Given the description of an element on the screen output the (x, y) to click on. 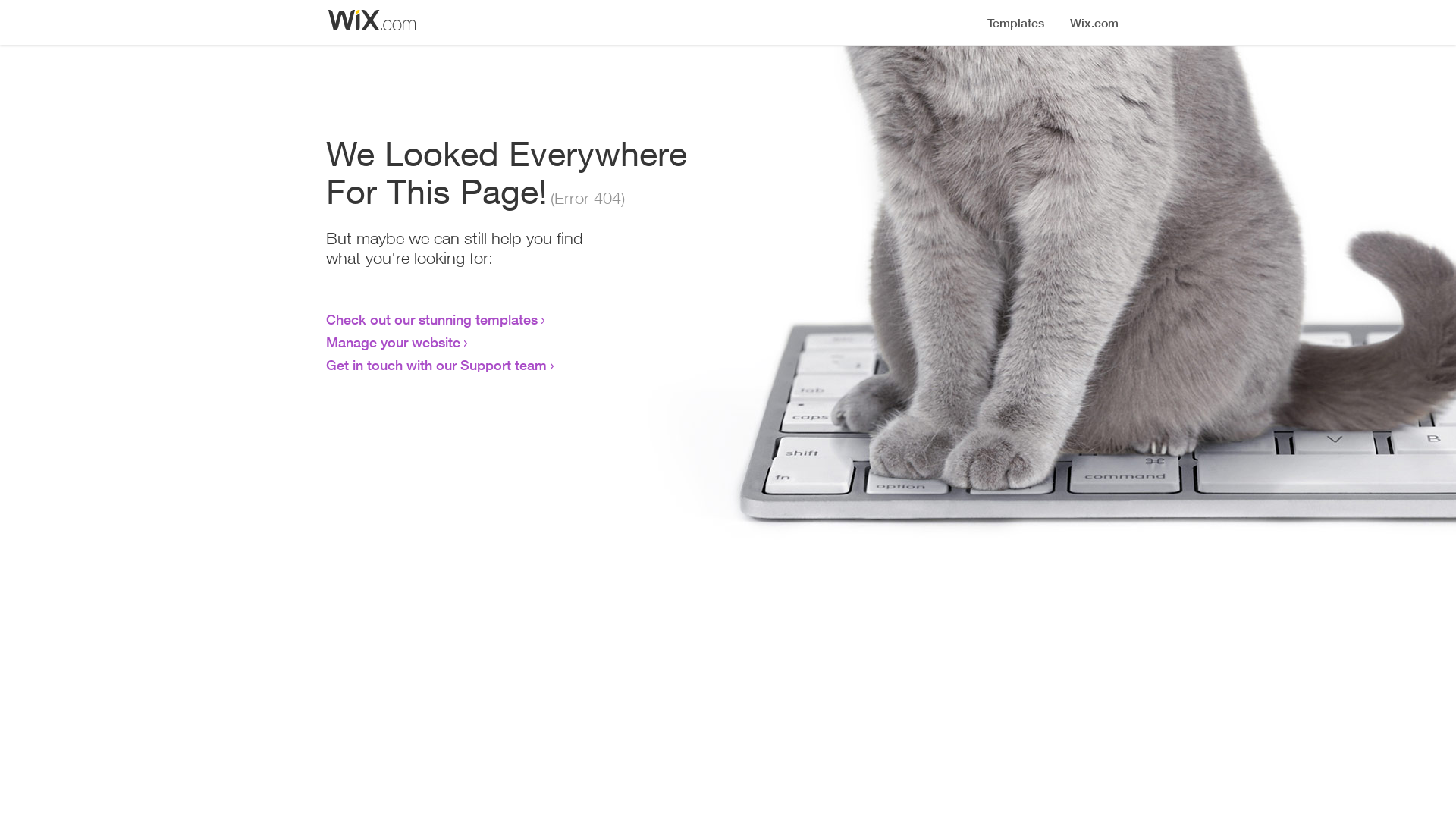
Check out our stunning templates Element type: text (431, 318)
Get in touch with our Support team Element type: text (436, 364)
Manage your website Element type: text (393, 341)
